Given the description of an element on the screen output the (x, y) to click on. 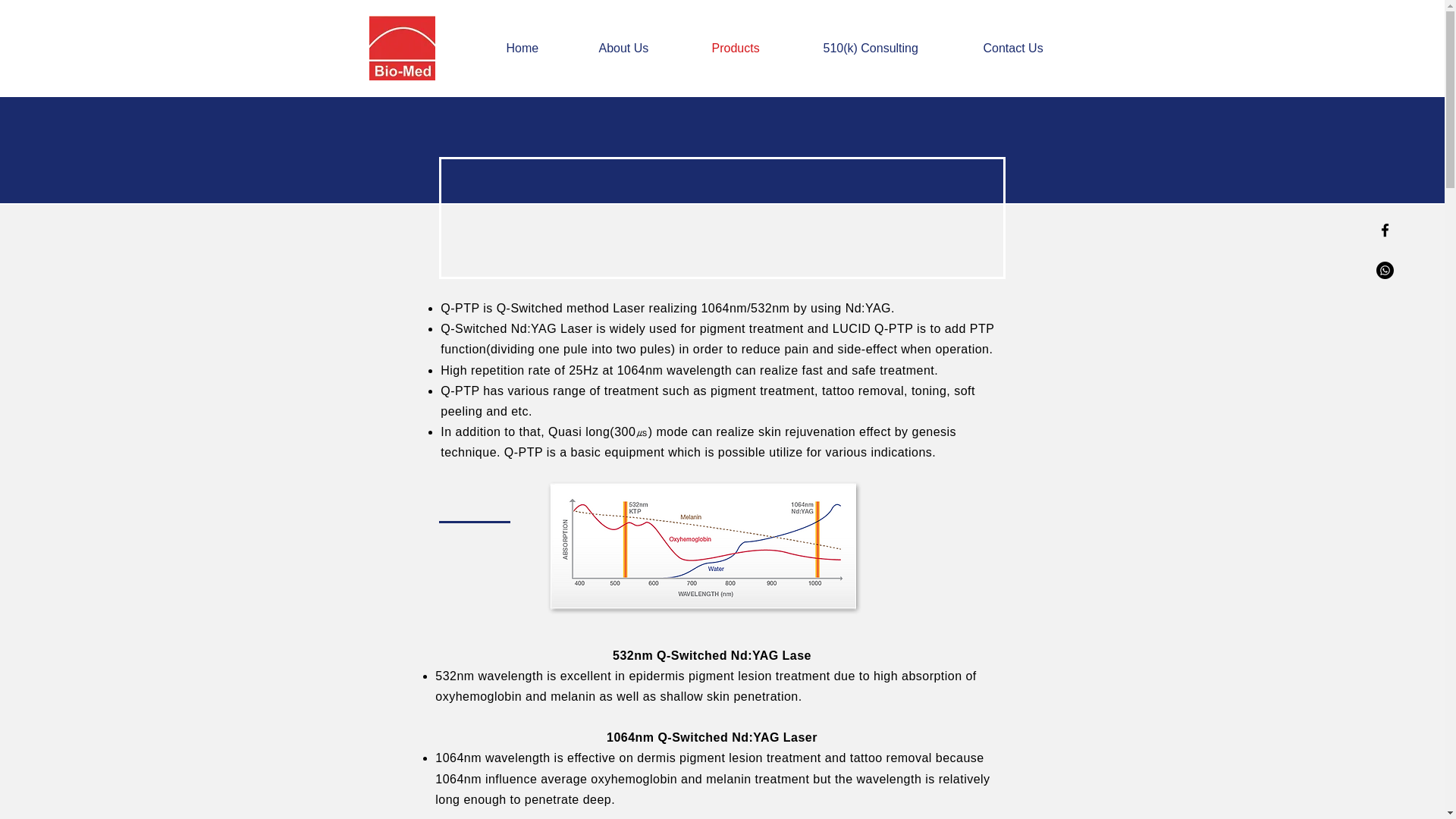
Home (540, 48)
About Us (643, 48)
Products (756, 48)
Contact Us (1033, 48)
